Given the description of an element on the screen output the (x, y) to click on. 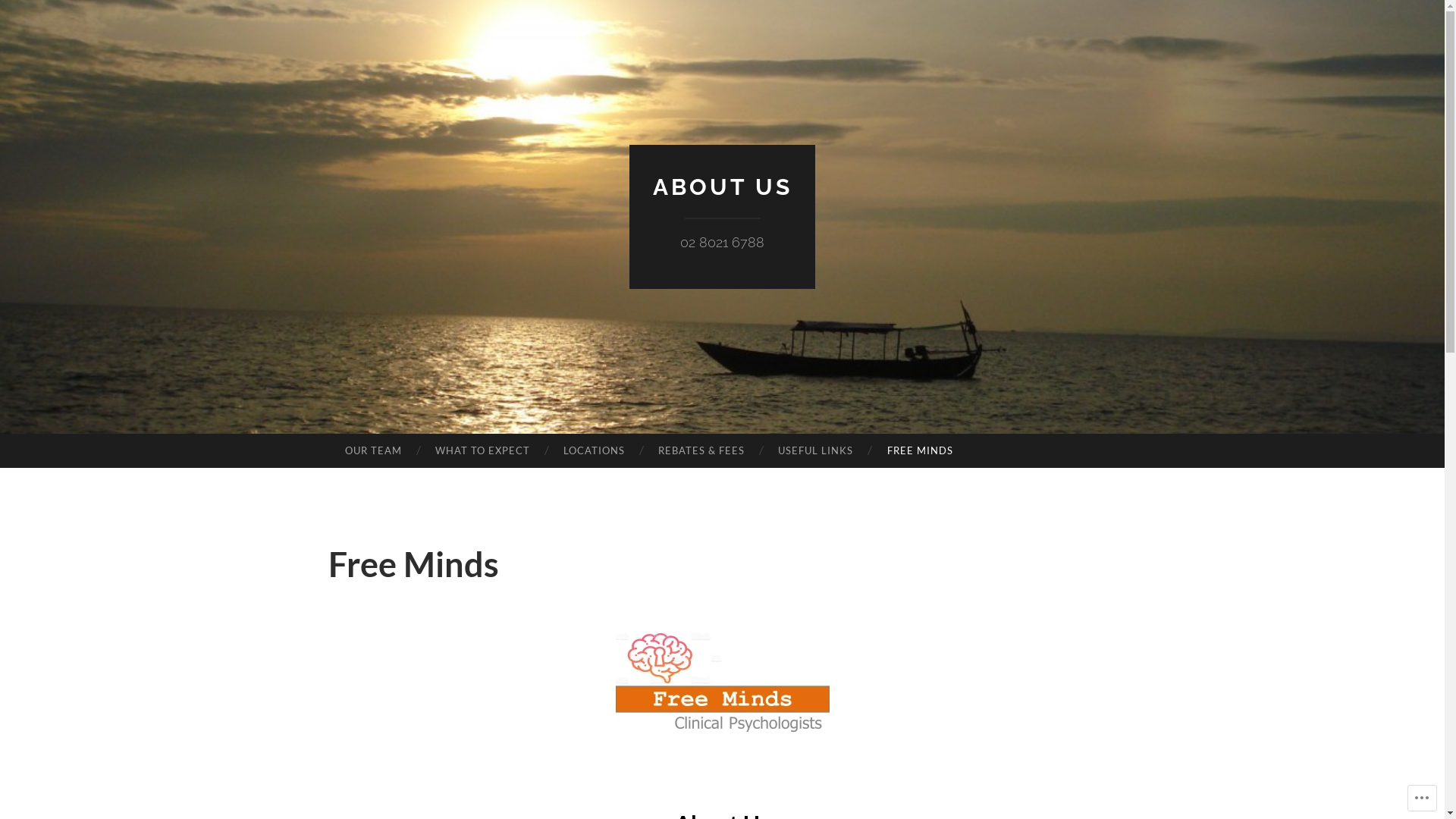
FREE MINDS Element type: text (919, 450)
LOCATIONS Element type: text (593, 450)
USEFUL LINKS Element type: text (815, 450)
ABOUT US Element type: text (721, 186)
OUR TEAM Element type: text (372, 450)
WHAT TO EXPECT Element type: text (482, 450)
REBATES & FEES Element type: text (701, 450)
